Given the description of an element on the screen output the (x, y) to click on. 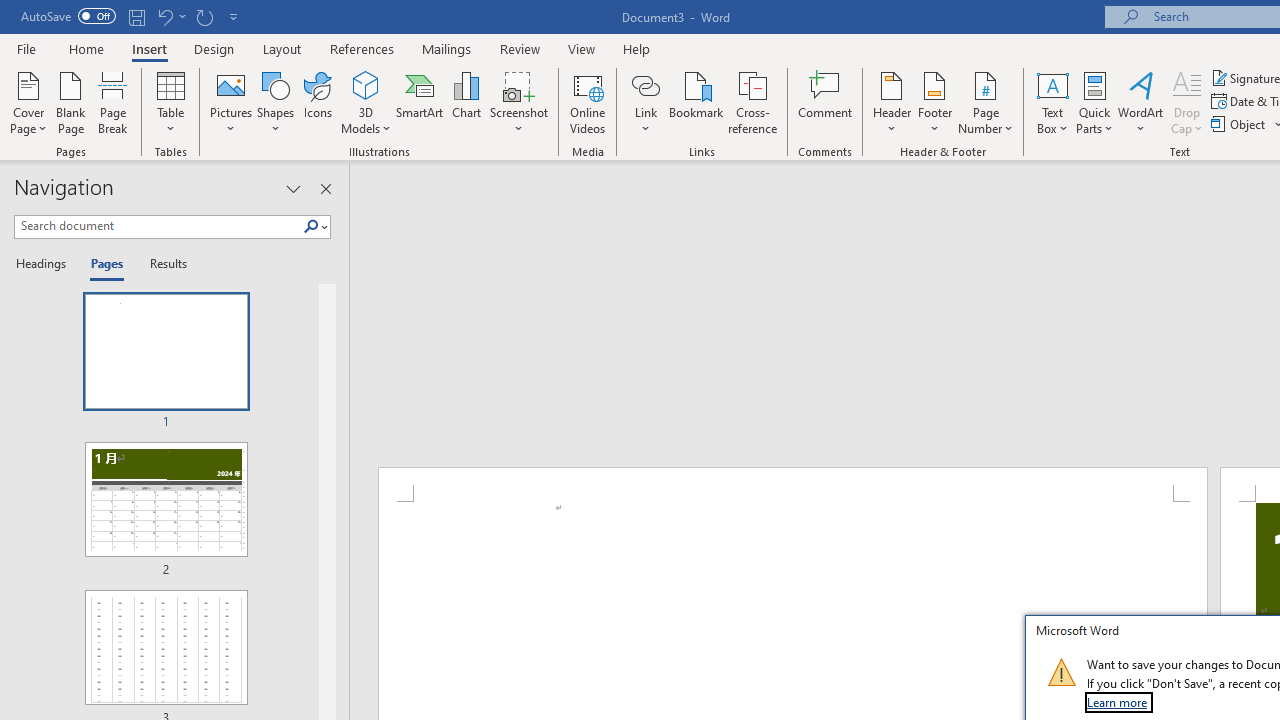
SmartArt... (419, 102)
Shapes (275, 102)
Page Break (113, 102)
Header -Section 1- (792, 485)
Search document (157, 226)
Screenshot (518, 102)
Undo New Page (164, 15)
Undo New Page (170, 15)
Footer (934, 102)
Cover Page (28, 102)
